Given the description of an element on the screen output the (x, y) to click on. 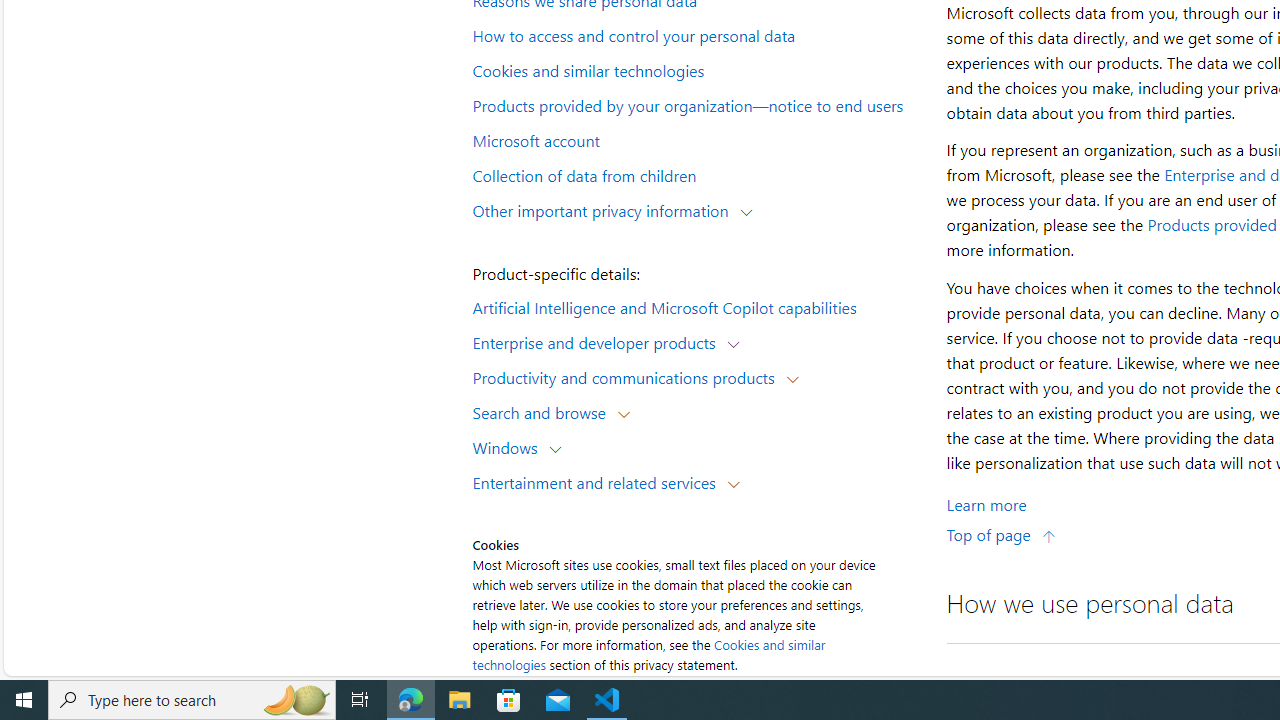
Cookies and similar technologies (648, 654)
